Given the description of an element on the screen output the (x, y) to click on. 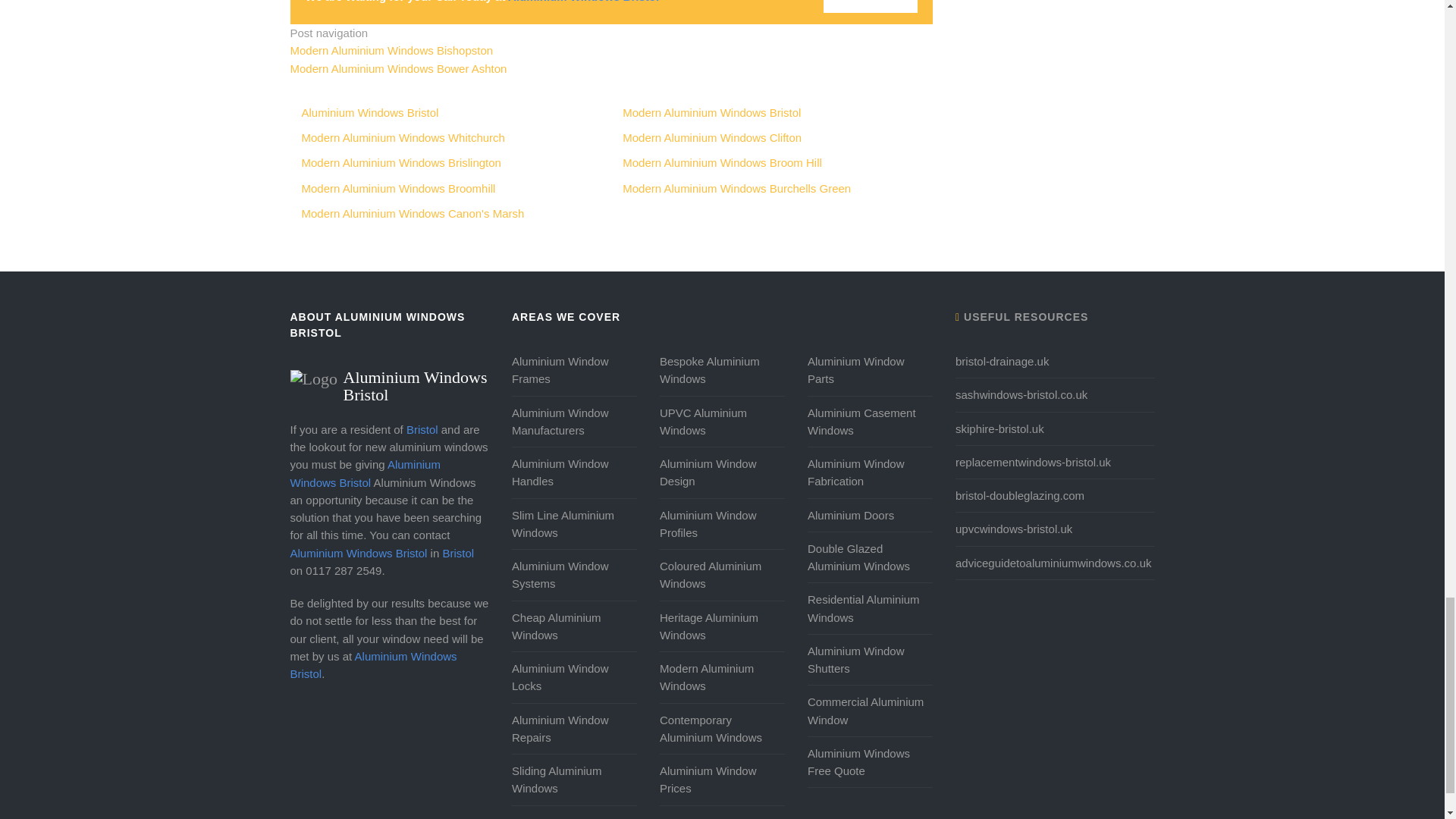
Aluminium Windows Bristol (389, 378)
